Given the description of an element on the screen output the (x, y) to click on. 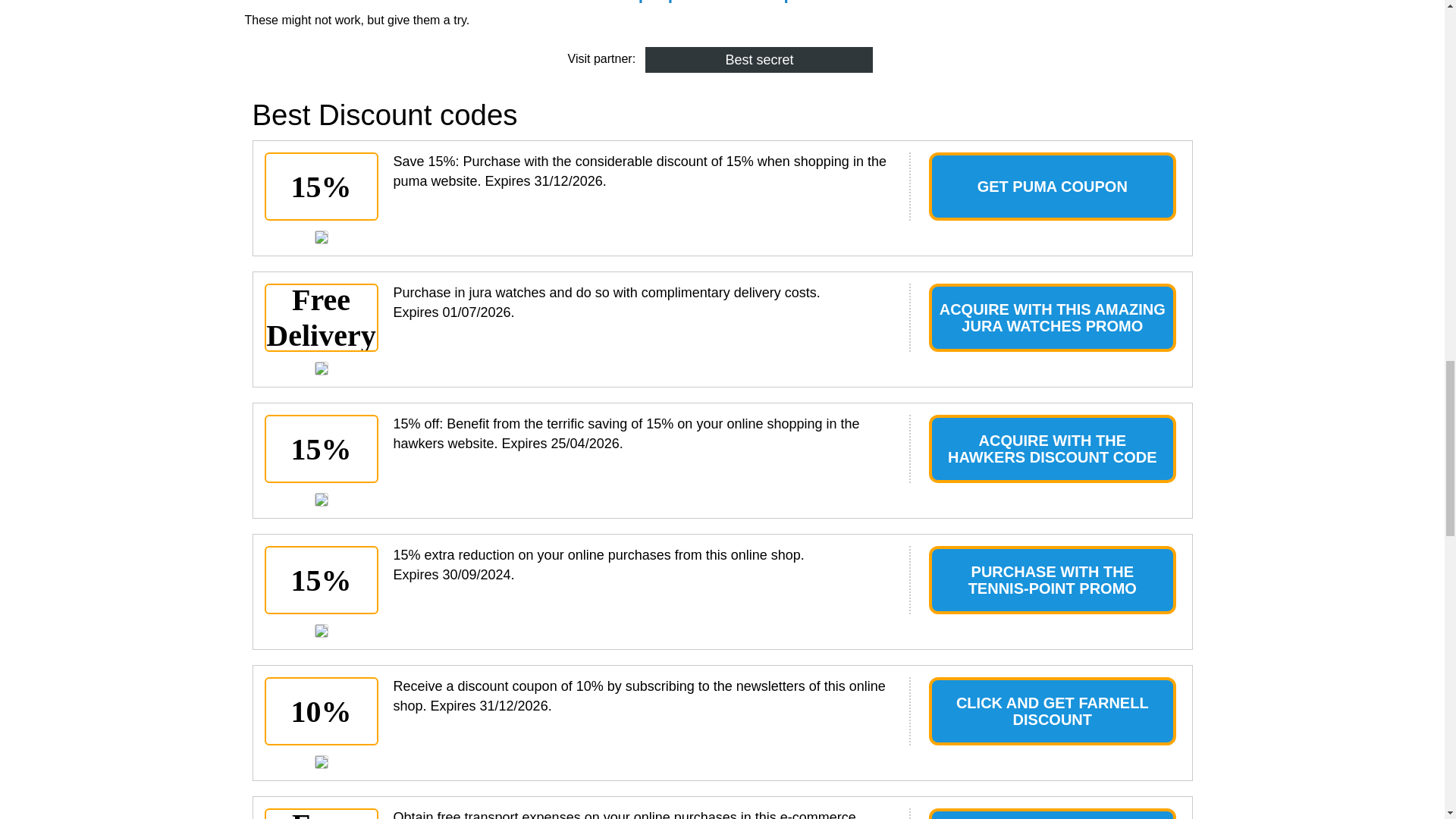
Acquire with this amazing jura watches promo  (320, 368)
Get puma coupon  (320, 237)
Best secret (758, 59)
